Given the description of an element on the screen output the (x, y) to click on. 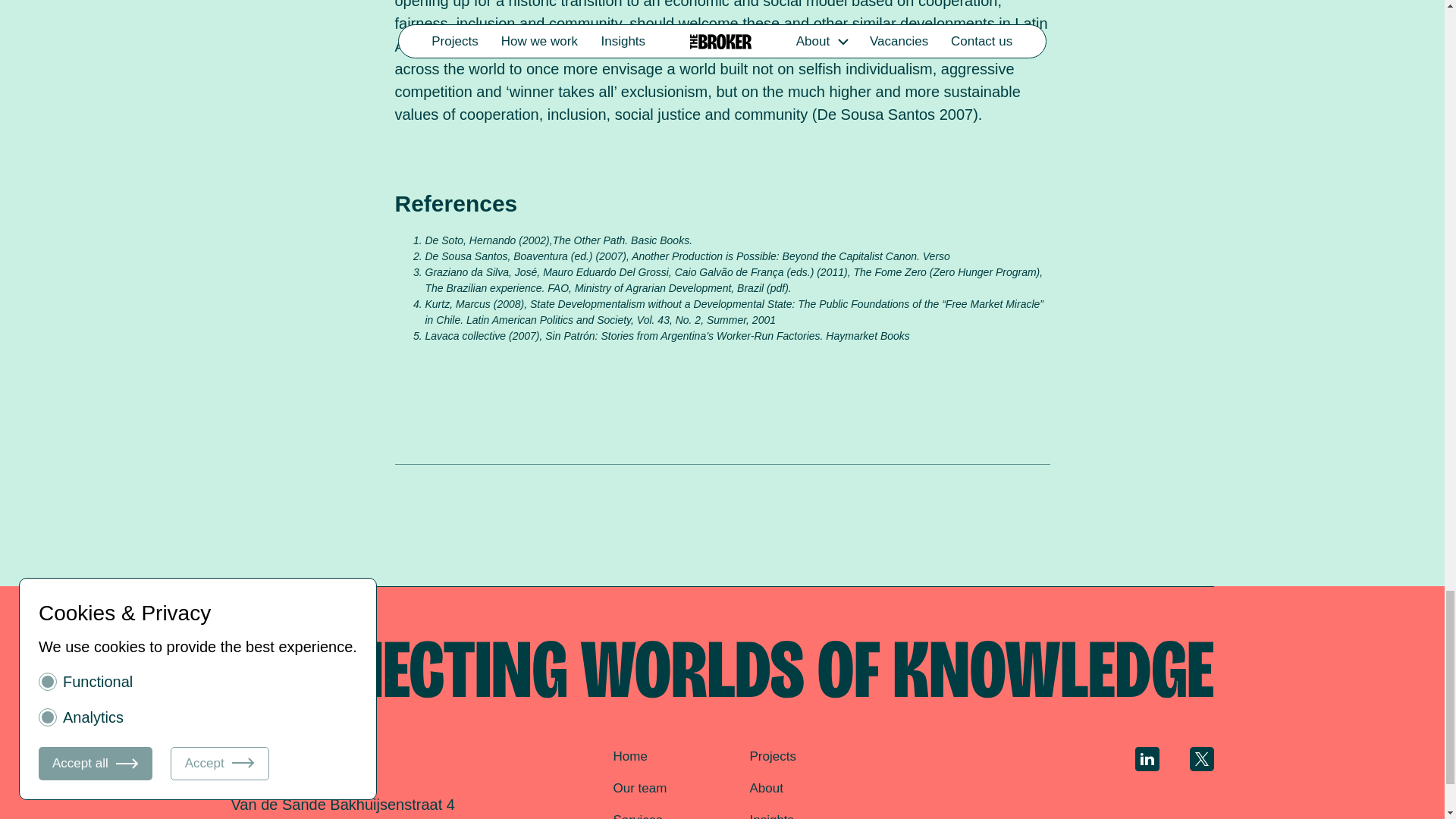
About (766, 788)
Home (629, 756)
Projects (771, 756)
Services (637, 816)
Insights (771, 816)
Our team (639, 788)
